Given the description of an element on the screen output the (x, y) to click on. 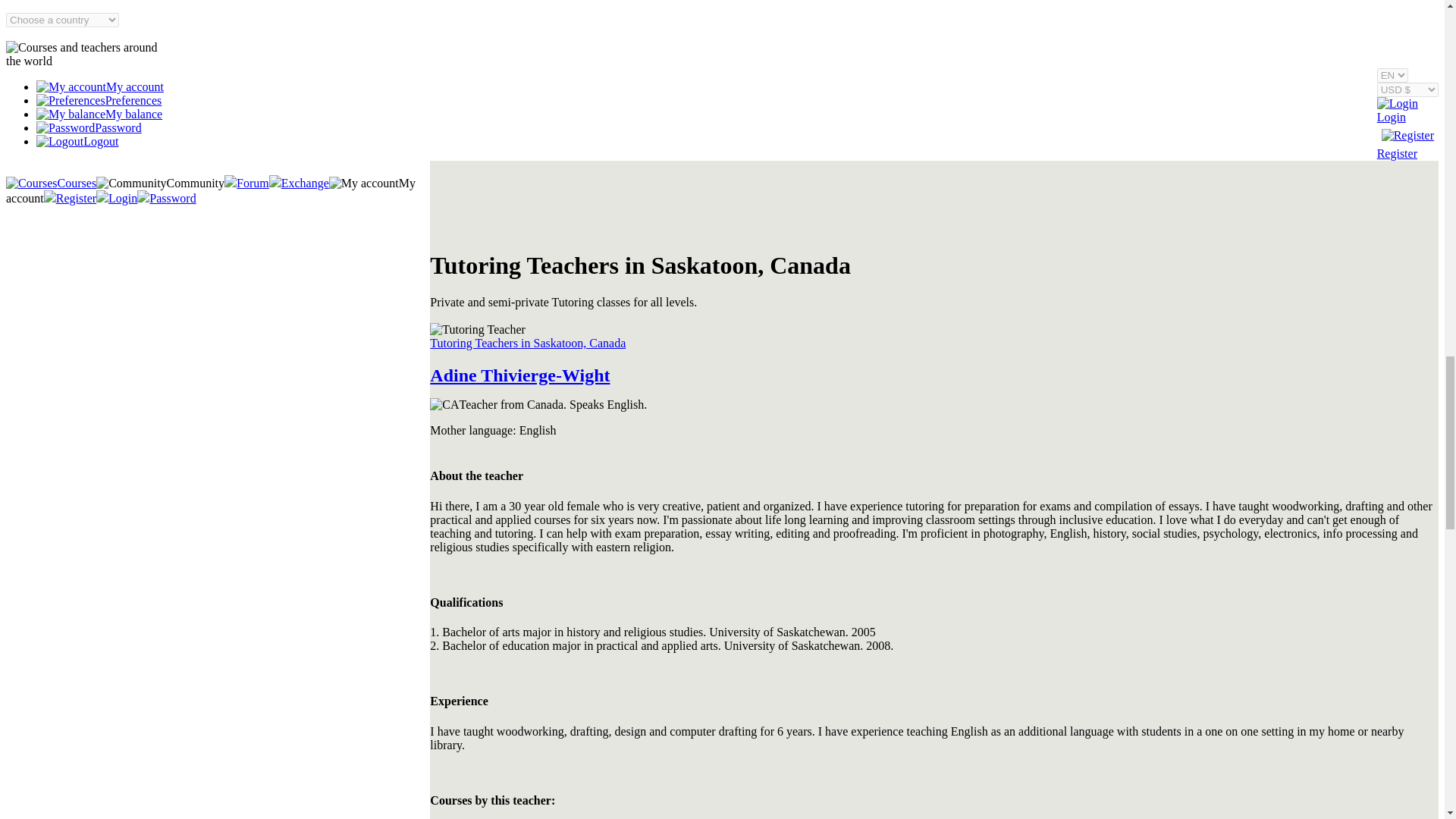
Login (1397, 103)
